Given the description of an element on the screen output the (x, y) to click on. 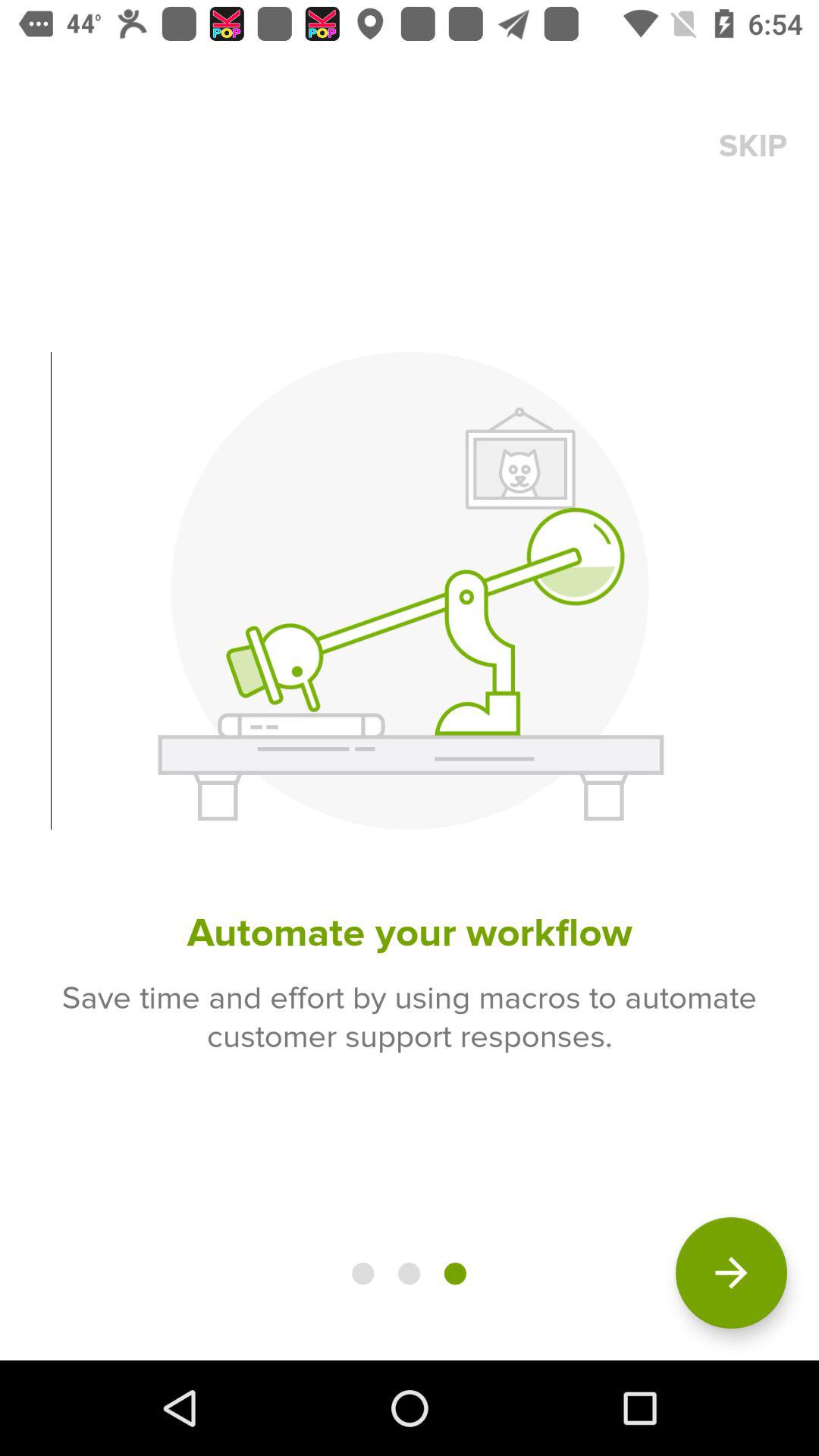
go to next page (731, 1272)
